Given the description of an element on the screen output the (x, y) to click on. 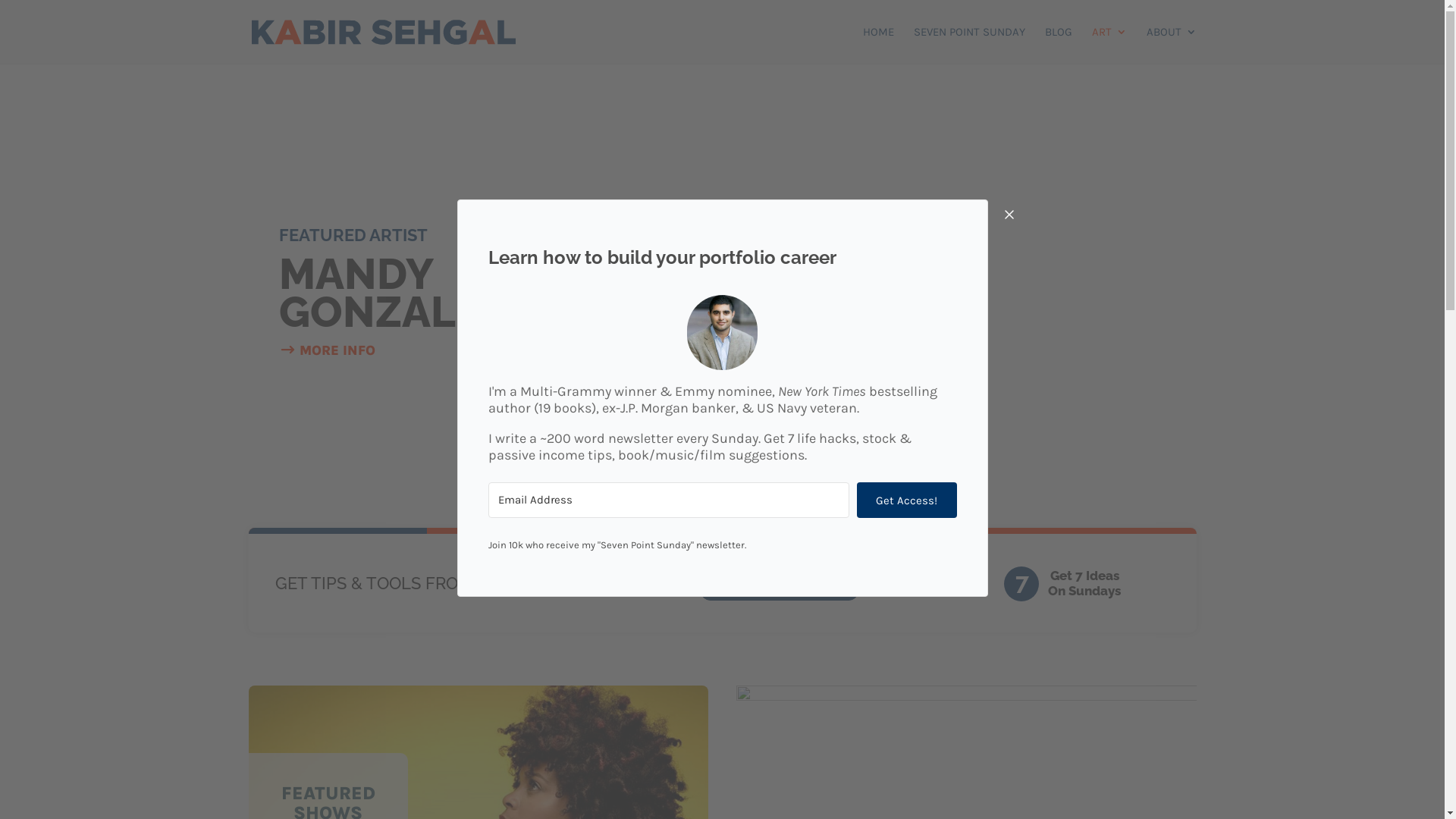
Get Access! Element type: text (906, 499)
HOME Element type: text (878, 44)
BLOG Element type: text (1058, 44)
GET ACCESS! Element type: text (779, 589)
SEVEN POINT SUNDAY Element type: text (968, 44)
ART Element type: text (1109, 44)
MORE INFO Element type: text (327, 350)
ABOUT Element type: text (1171, 44)
